Given the description of an element on the screen output the (x, y) to click on. 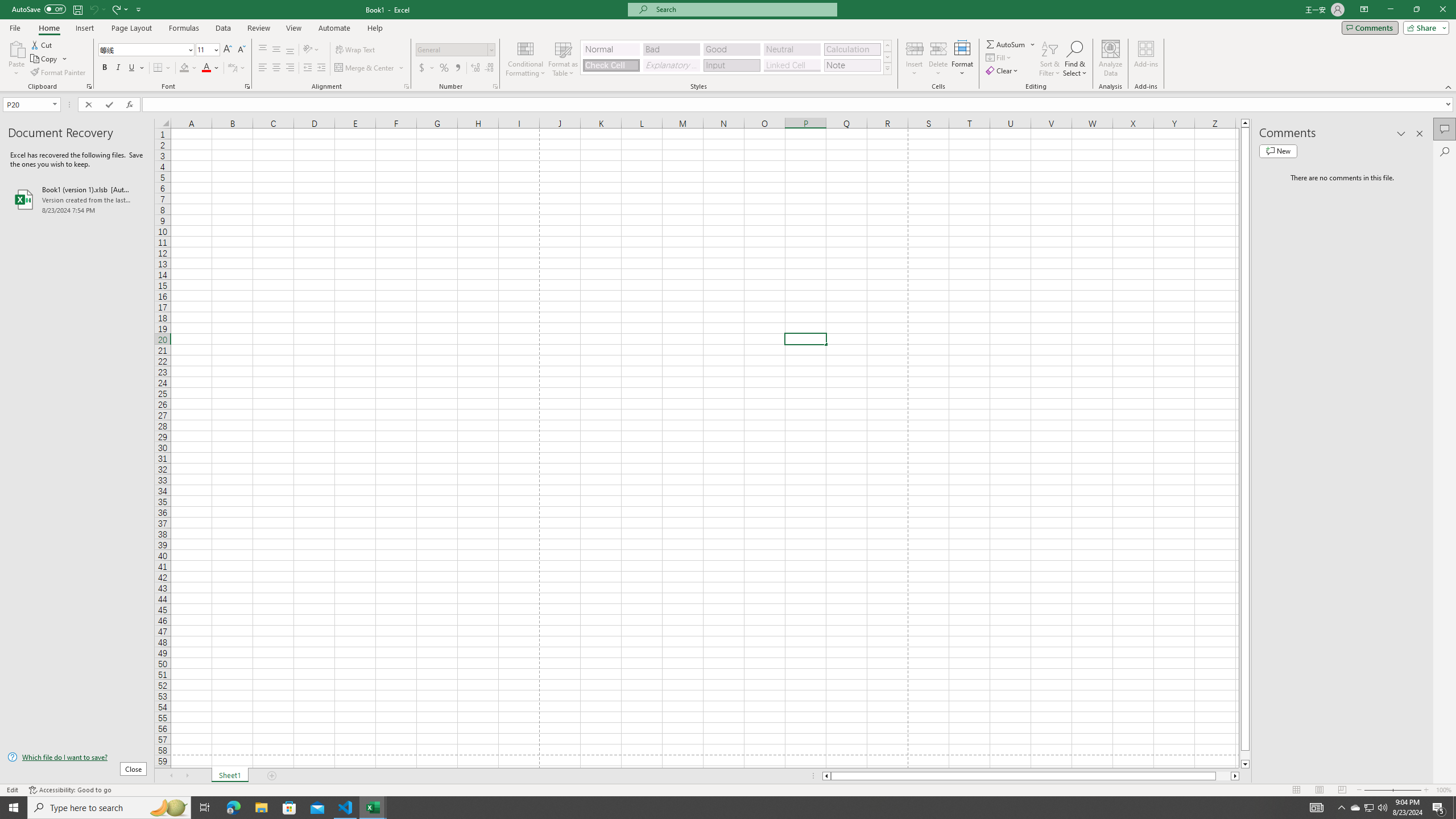
Normal (611, 49)
Conditional Formatting (525, 58)
Format Cell Font (247, 85)
AutoSave (38, 9)
Office Clipboard... (88, 85)
Input (731, 65)
Increase Decimal (474, 67)
Zoom Out (1377, 790)
Explanatory Text (671, 65)
Align Right (290, 67)
Borders (162, 67)
Decrease Indent (307, 67)
Comments (1444, 128)
AutomationID: CellStylesGallery (736, 57)
Paste (16, 58)
